Given the description of an element on the screen output the (x, y) to click on. 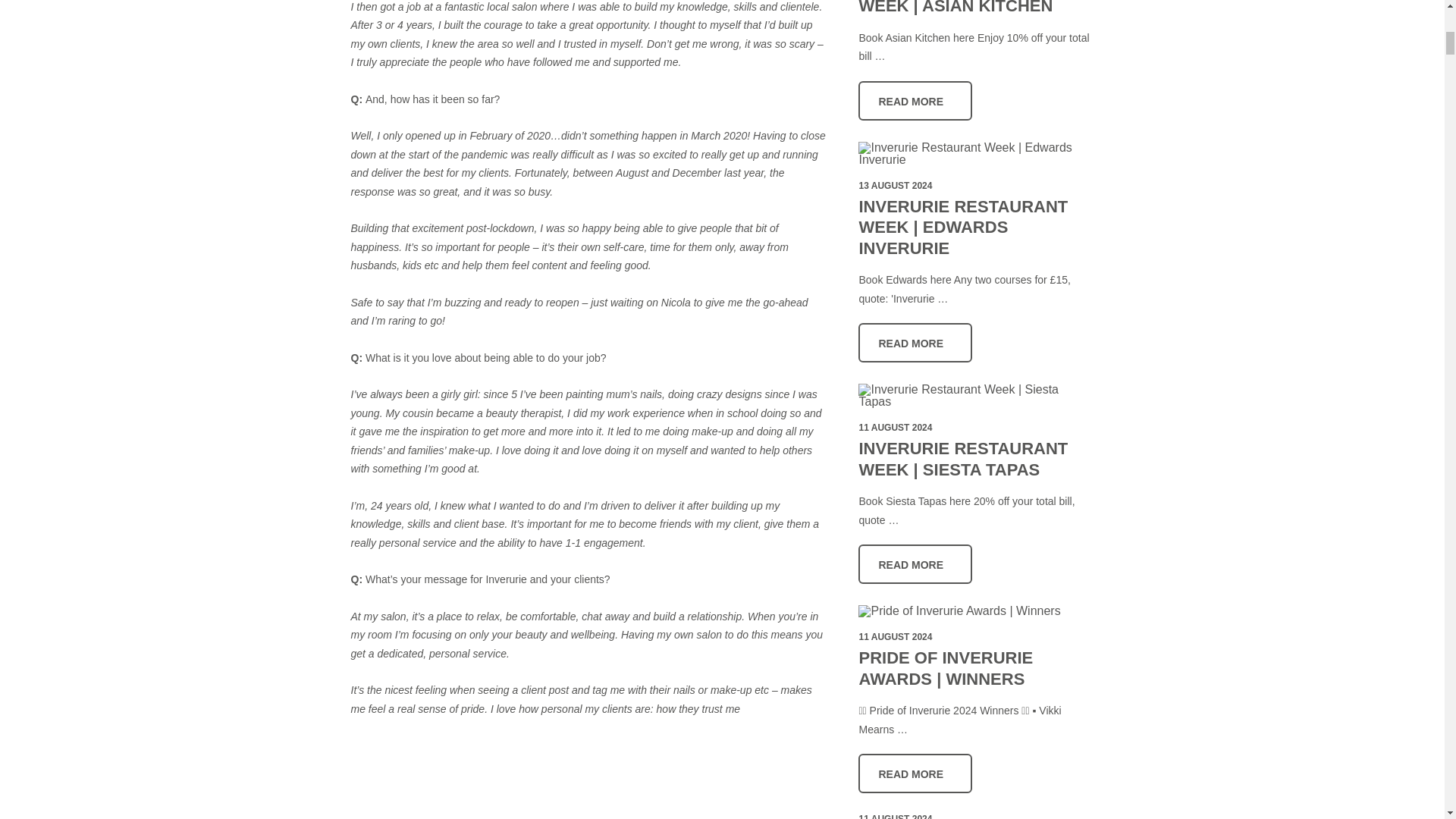
READ MORE (915, 563)
READ MORE (915, 99)
READ MORE (915, 773)
READ MORE (915, 342)
